Given the description of an element on the screen output the (x, y) to click on. 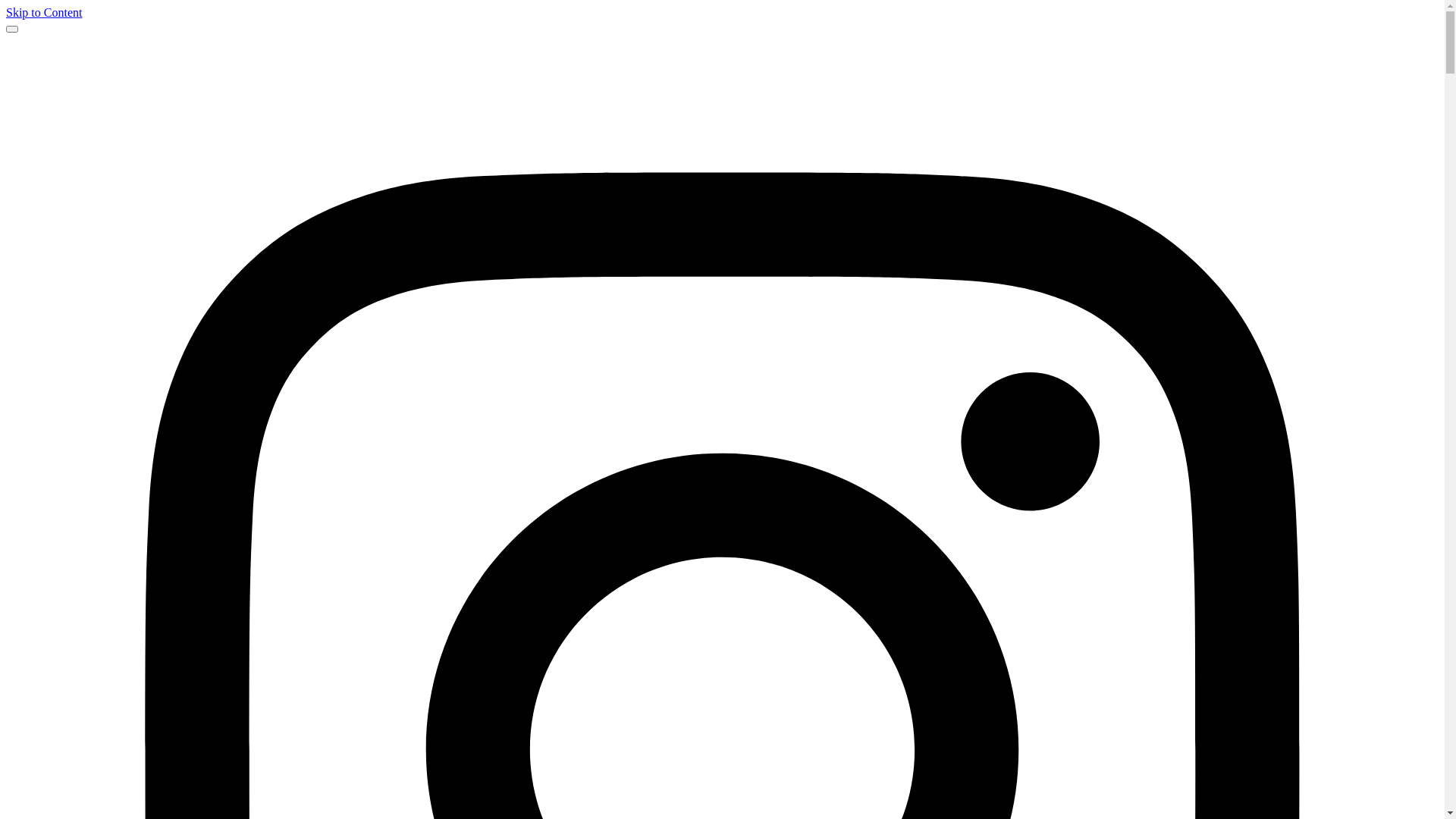
Skip to Content Element type: text (43, 12)
